Given the description of an element on the screen output the (x, y) to click on. 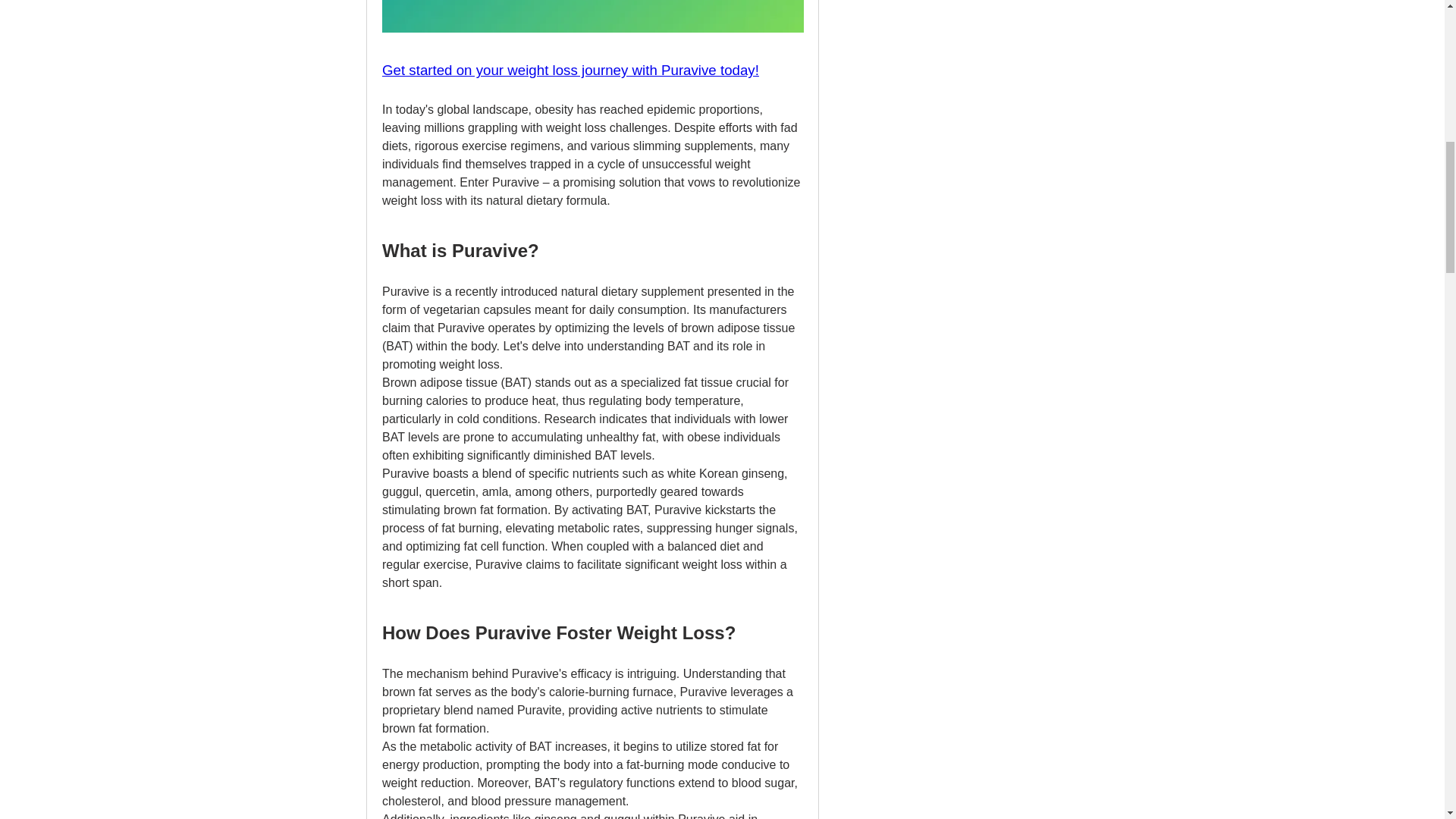
Get started on your weight loss journey with Puravive today! (569, 70)
